Given the description of an element on the screen output the (x, y) to click on. 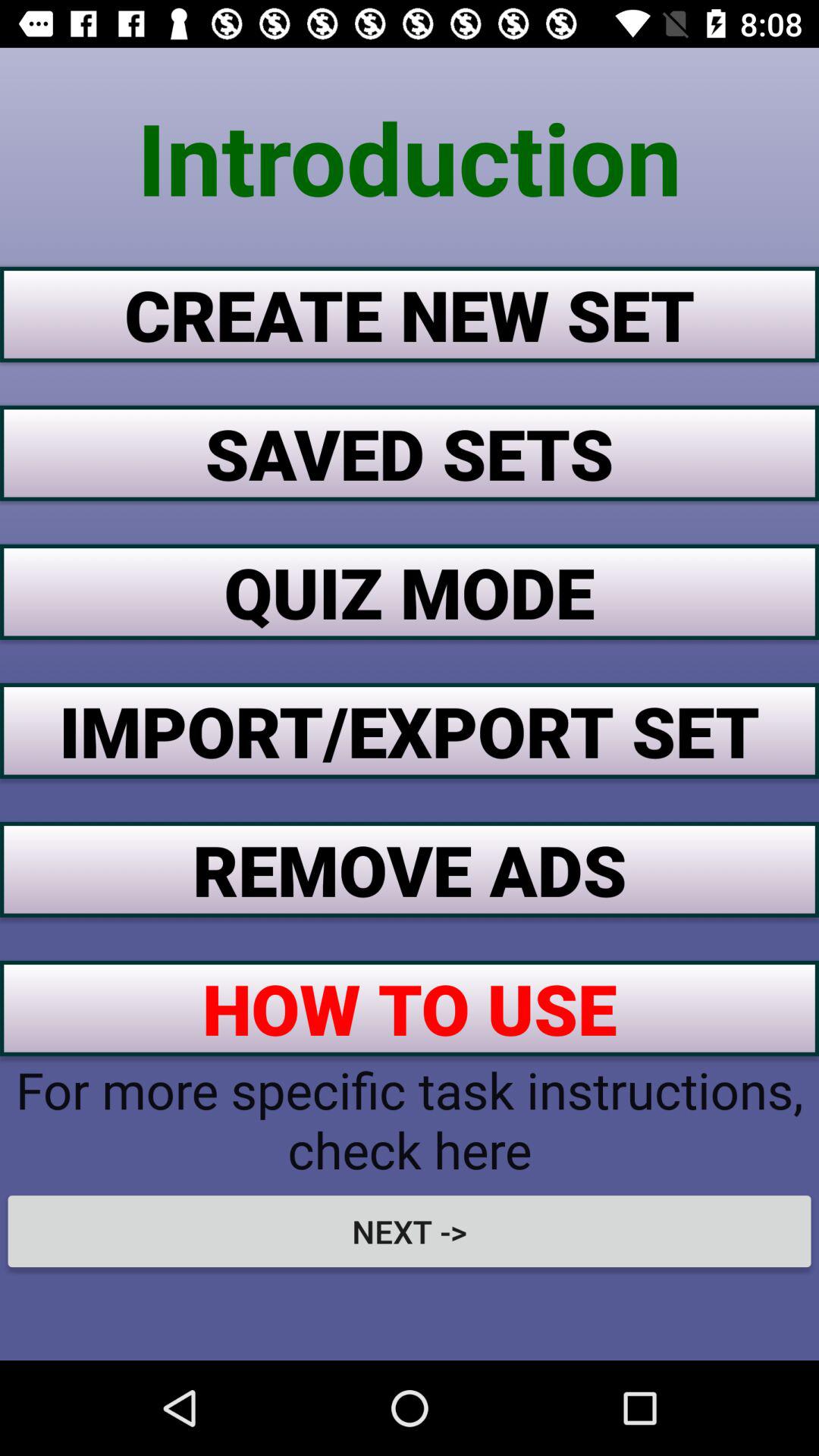
tap icon above the how to use button (409, 869)
